Given the description of an element on the screen output the (x, y) to click on. 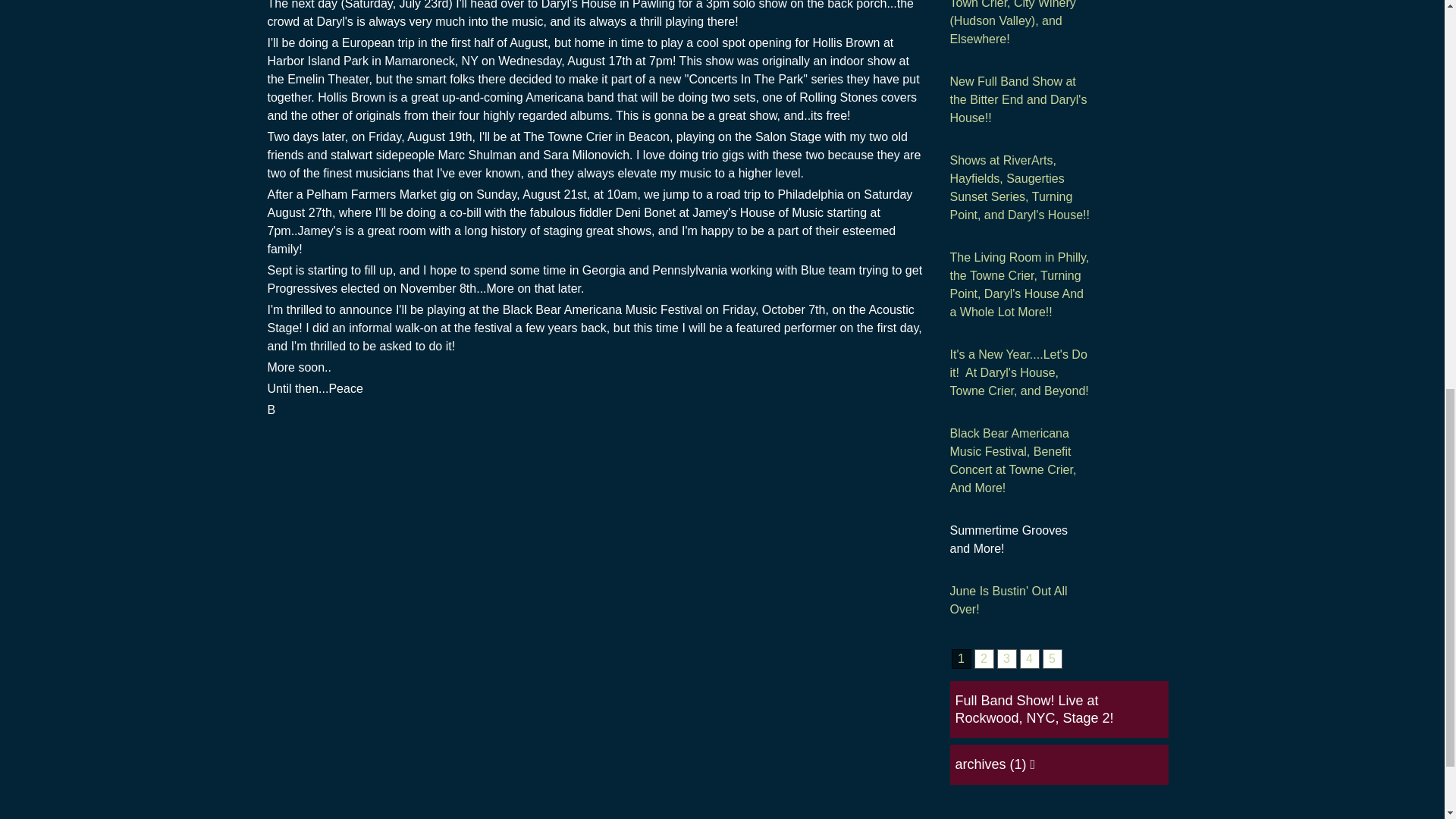
June Is Bustin' Out All Over! (1019, 600)
3 (1005, 659)
Summertime Grooves and More! (1019, 539)
5 (1051, 659)
1 (960, 659)
Full Band Show! Live at Rockwood, NYC, Stage 2! (1034, 708)
2 (983, 659)
